Given the description of an element on the screen output the (x, y) to click on. 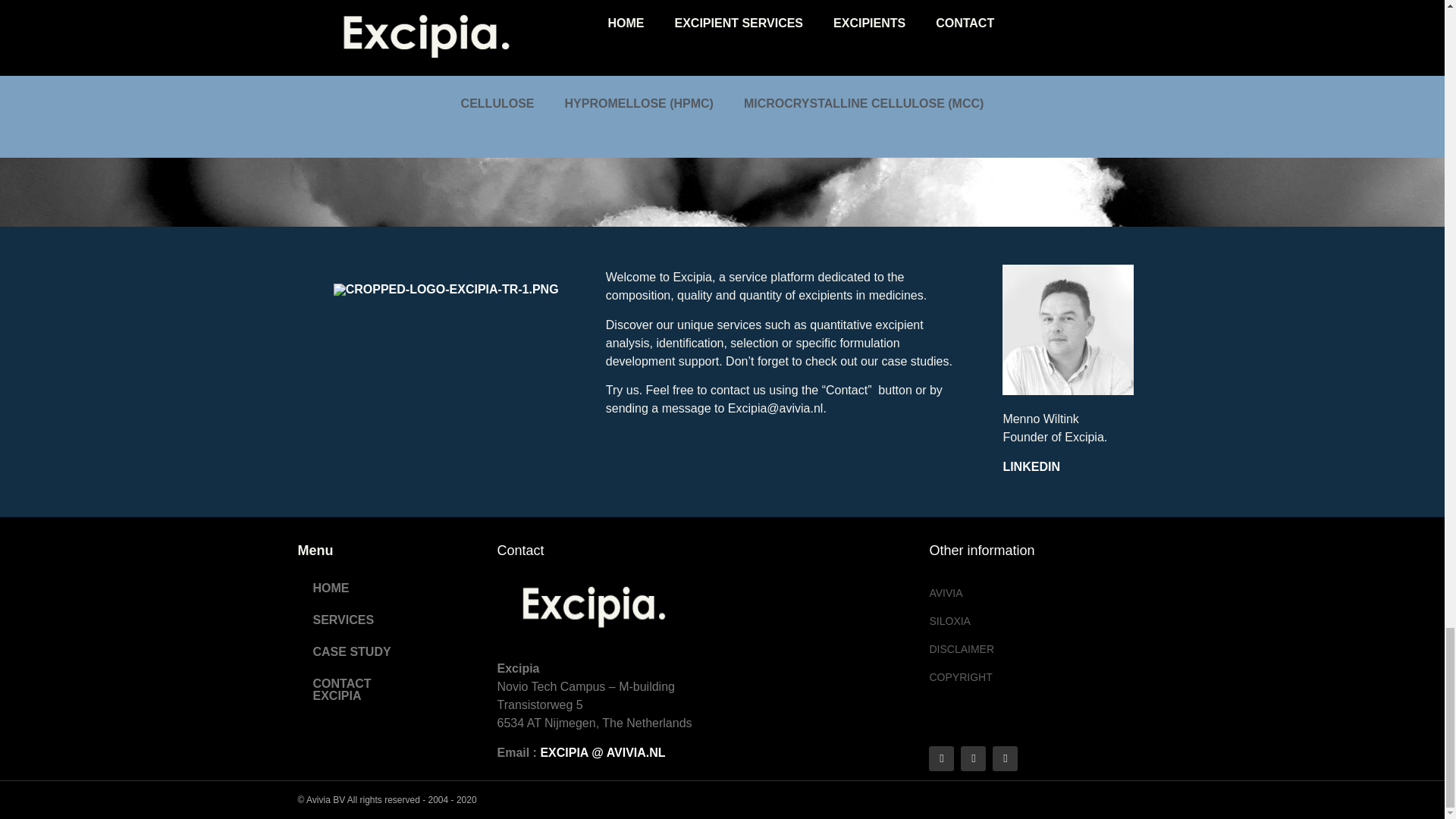
cropped-Logo-Excipia-tr-1.png (446, 289)
